Given the description of an element on the screen output the (x, y) to click on. 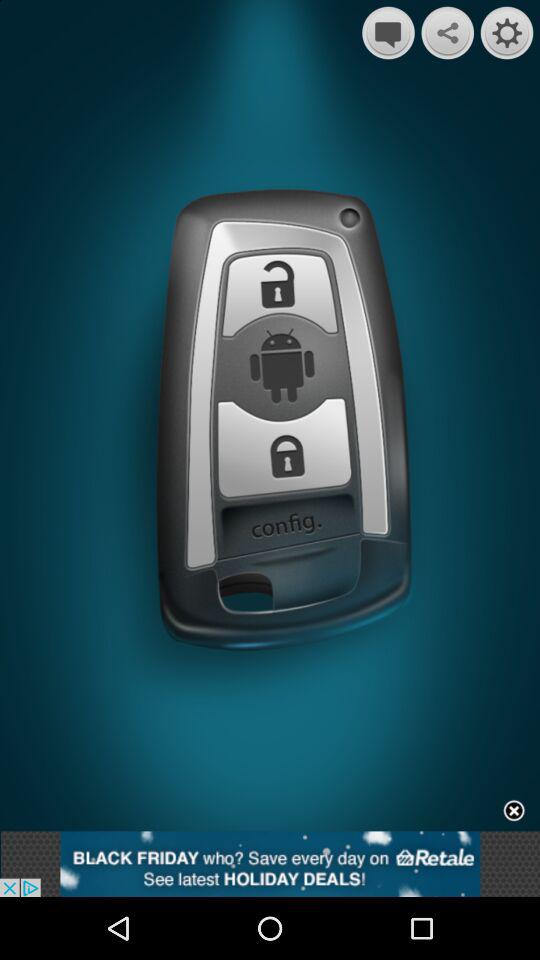
message (388, 32)
